Given the description of an element on the screen output the (x, y) to click on. 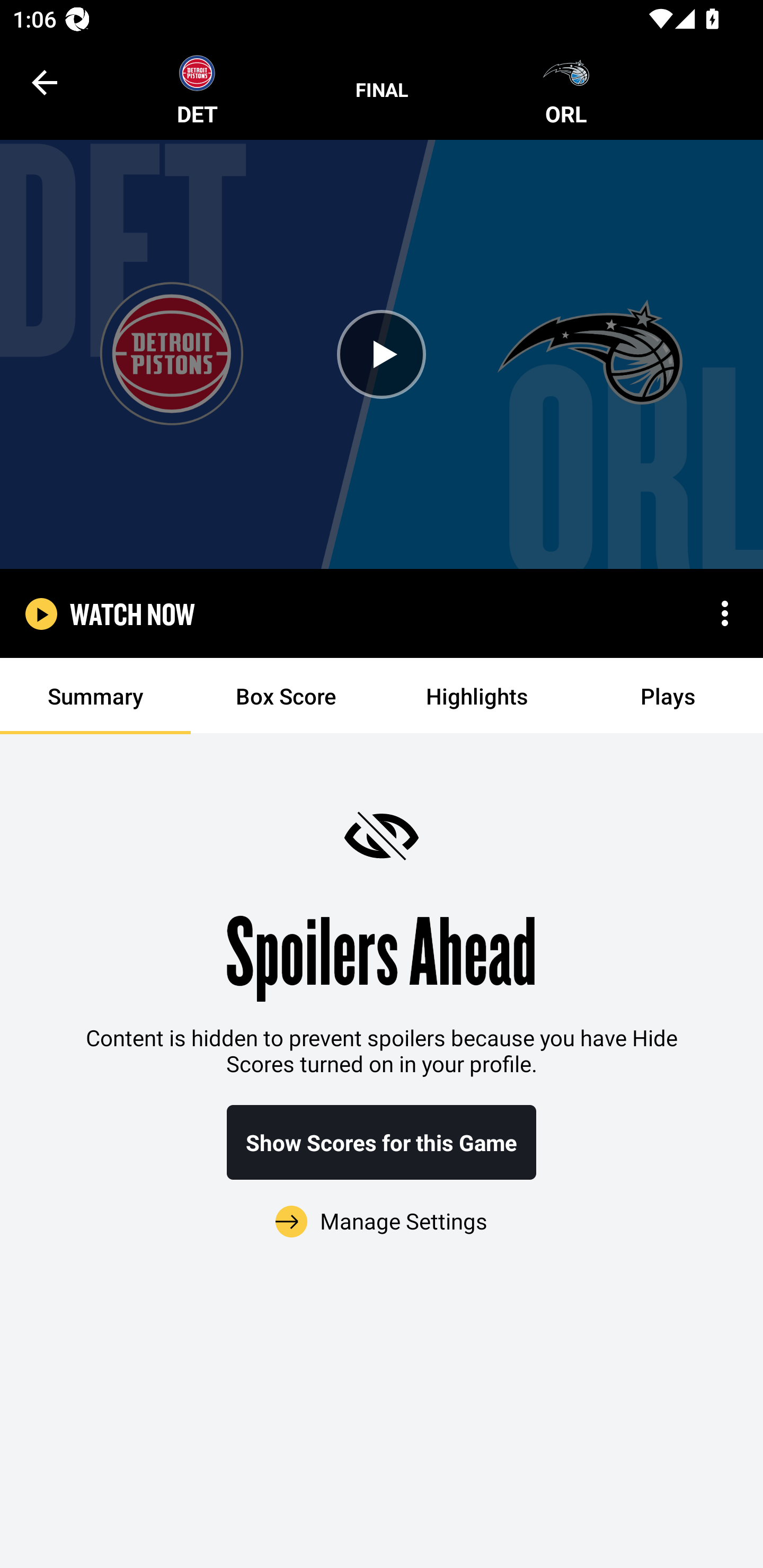
Navigate up (44, 82)
More options (724, 613)
WATCH NOW (132, 613)
Box Score (285, 695)
Highlights (476, 695)
Plays (667, 695)
Show Scores for this Game (381, 1141)
Manage Settings (381, 1210)
